Given the description of an element on the screen output the (x, y) to click on. 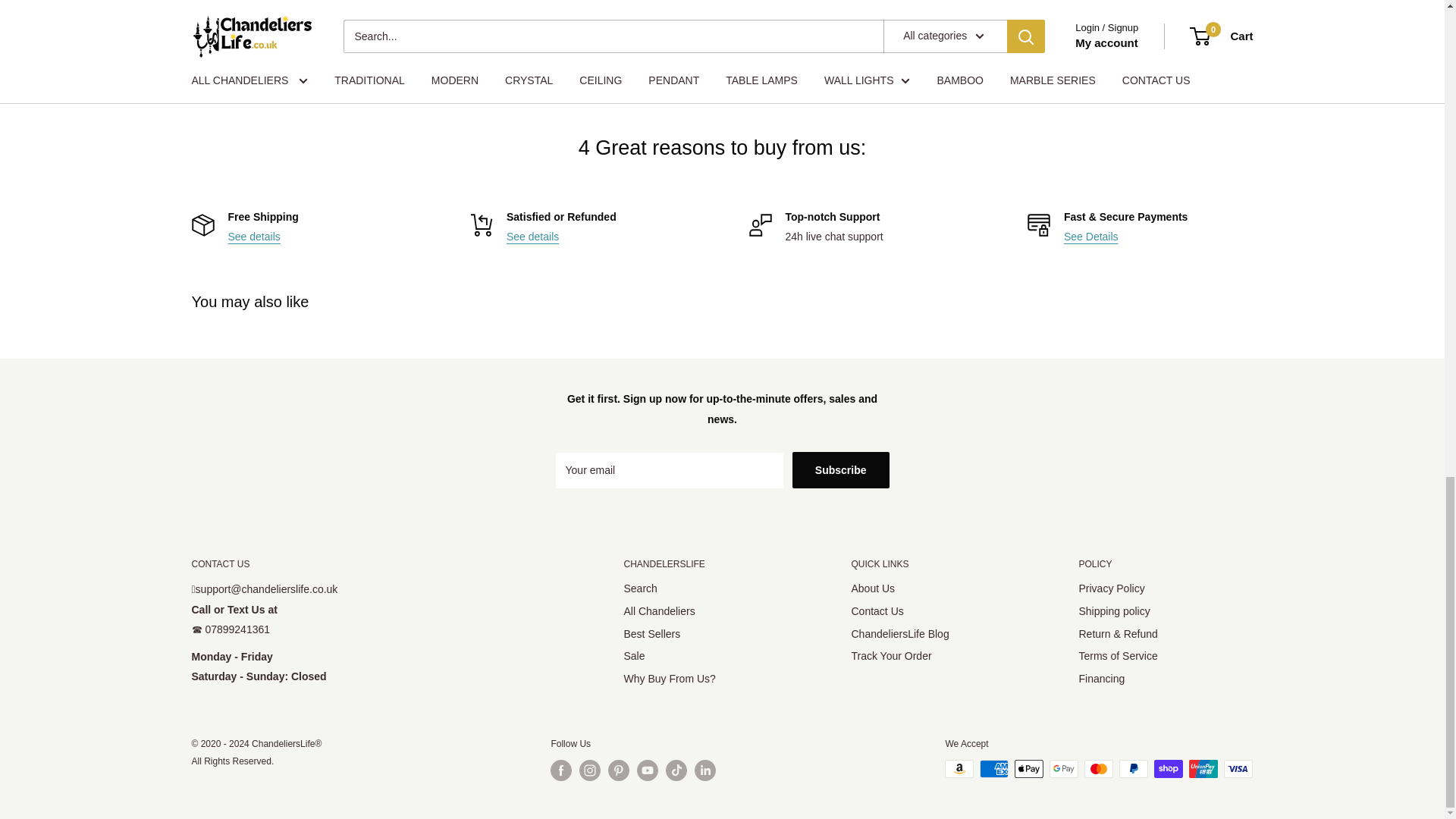
Refund Policy (532, 236)
Shipping policy (253, 236)
Payment methods (1091, 236)
